Given the description of an element on the screen output the (x, y) to click on. 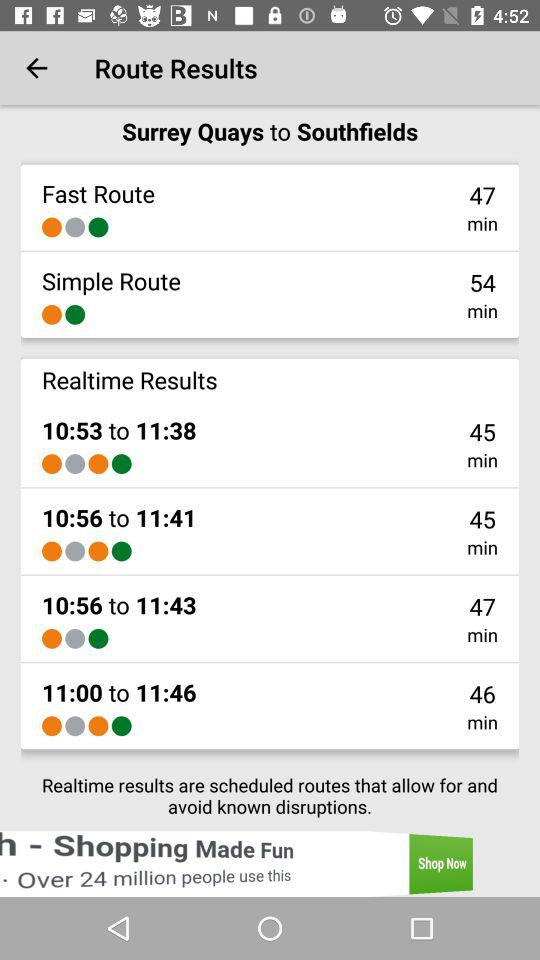
press the item to the left of min (121, 726)
